Given the description of an element on the screen output the (x, y) to click on. 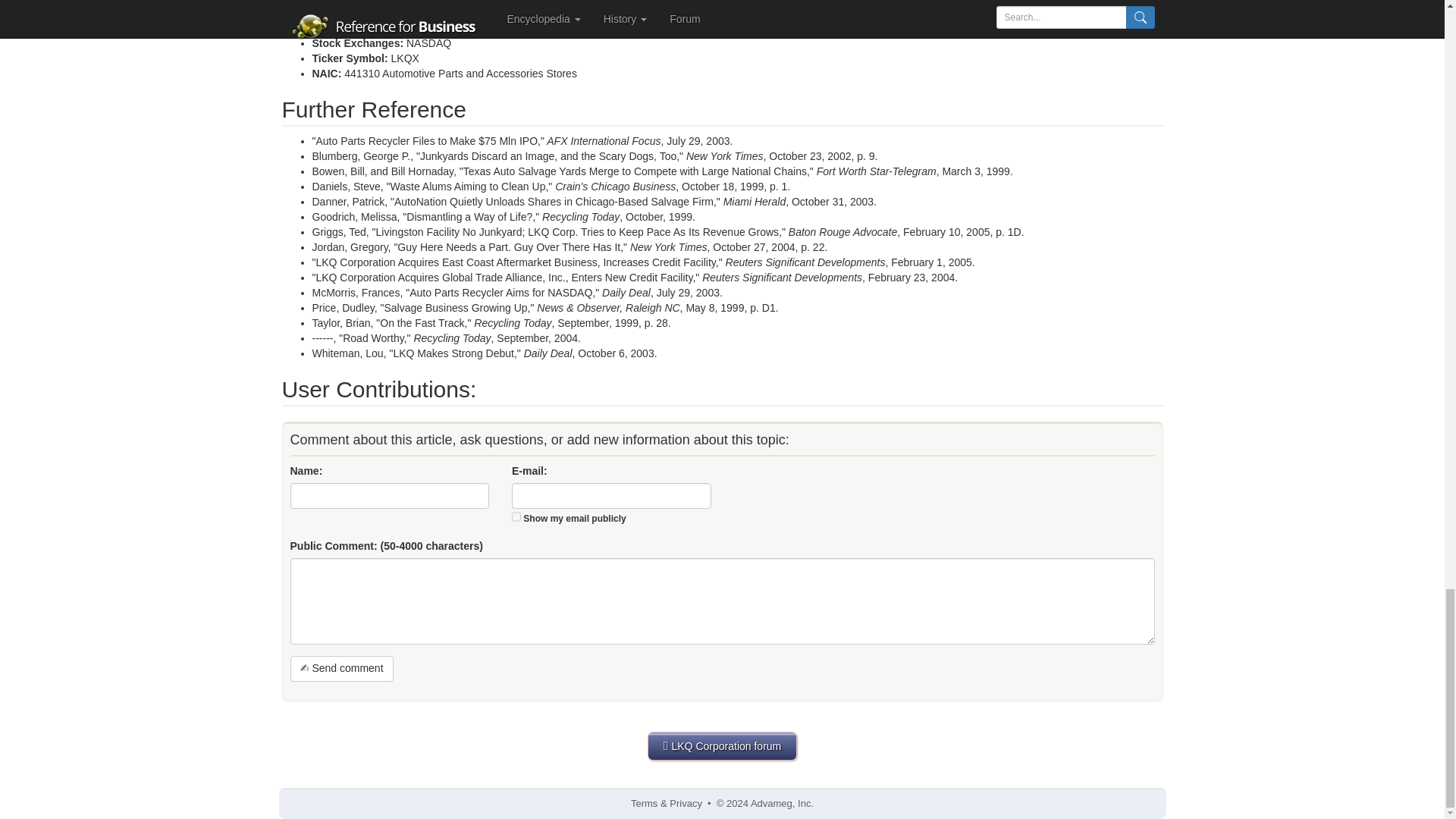
LKQ Corporation forum (722, 746)
1 (516, 516)
